Given the description of an element on the screen output the (x, y) to click on. 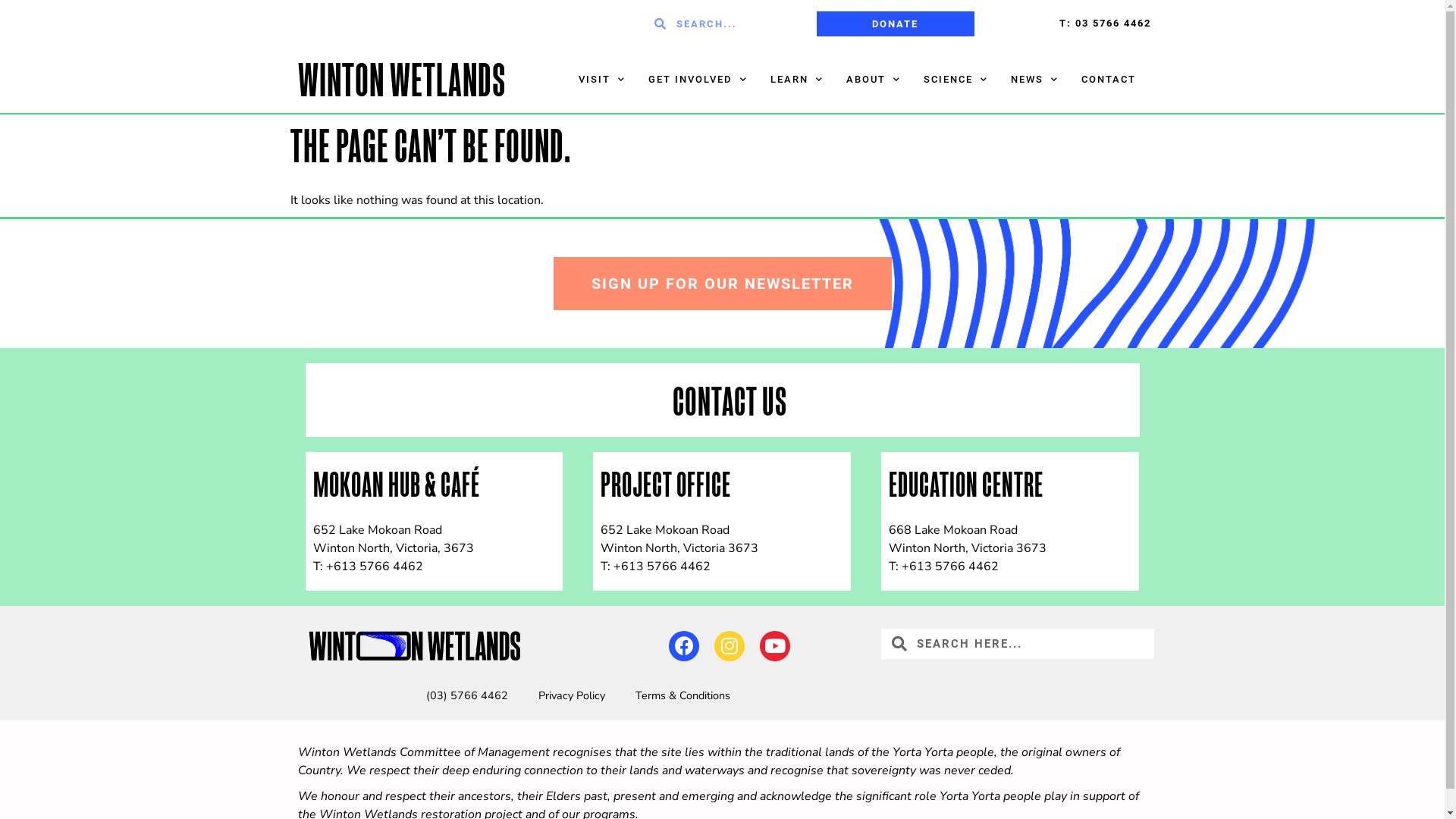
NEWS Element type: text (1034, 79)
SIGN UP FOR OUR NEWSLETTER Element type: text (722, 283)
Privacy Policy Element type: text (571, 694)
SCIENCE Element type: text (954, 79)
DONATE Element type: text (894, 22)
VISIT Element type: text (602, 79)
CONTACT Element type: text (1107, 79)
Terms & Conditions Element type: text (682, 694)
WINTON WETLANDS Element type: text (401, 82)
LEARN Element type: text (796, 79)
(03) 5766 4462 Element type: text (467, 694)
GET INVOLVED Element type: text (698, 79)
ABOUT Element type: text (872, 79)
